Given the description of an element on the screen output the (x, y) to click on. 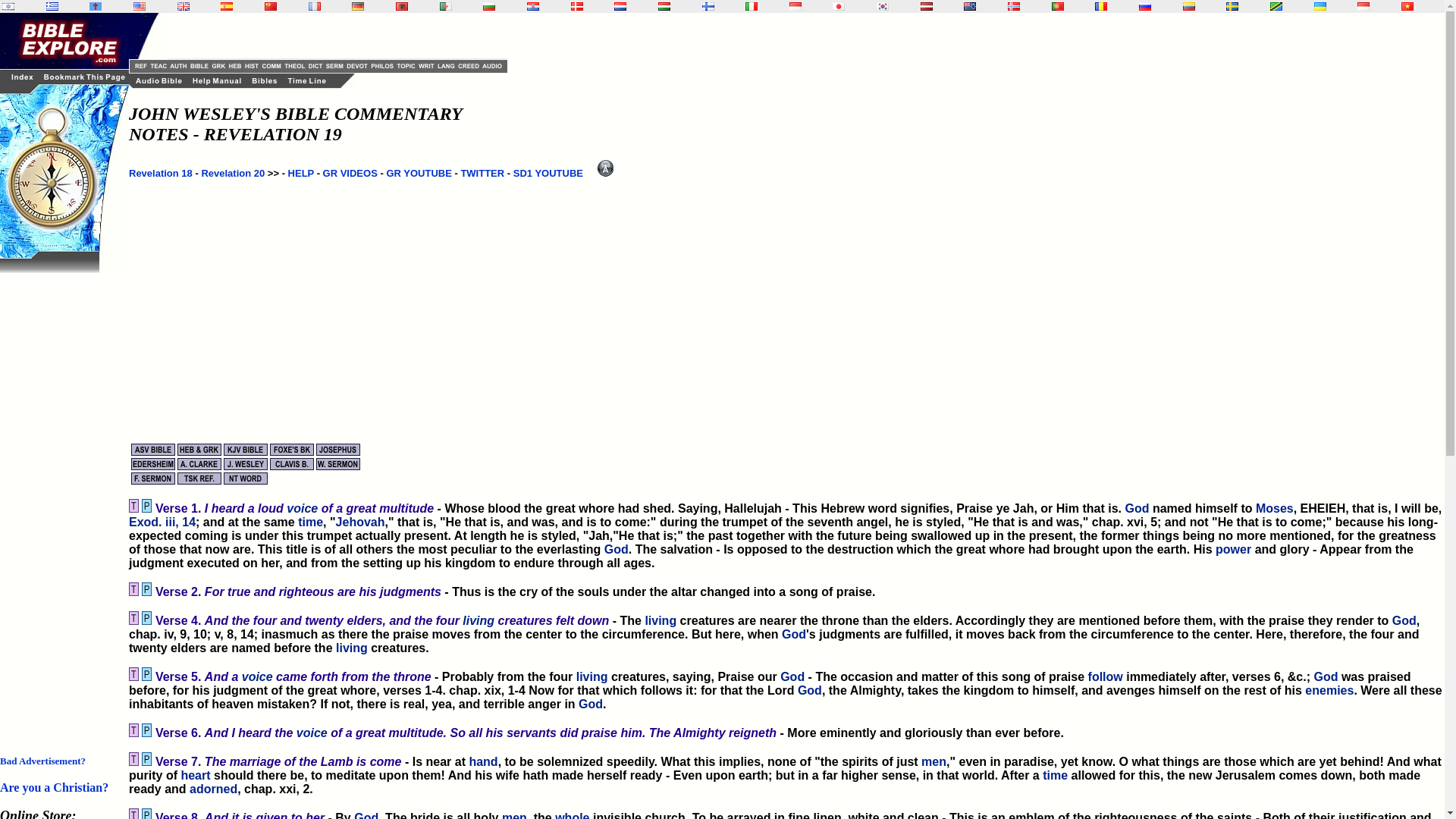
Baru Bibliya (795, 6)
Japanese Section (838, 6)
HELP (301, 173)
Revelation 20 (232, 173)
King James Bible (183, 6)
Danish (576, 6)
Are you a Christian? (53, 787)
Bad Advertisement? (42, 760)
Greek New Testament (52, 6)
Hebrew Old Testament (8, 6)
Dutch Bible: Staten Vertaling (620, 6)
Finnish: Pyha Raamattu (707, 6)
Revelation 18 (160, 173)
GR VIDEOS (350, 173)
Luther Bibel (358, 6)
